Given the description of an element on the screen output the (x, y) to click on. 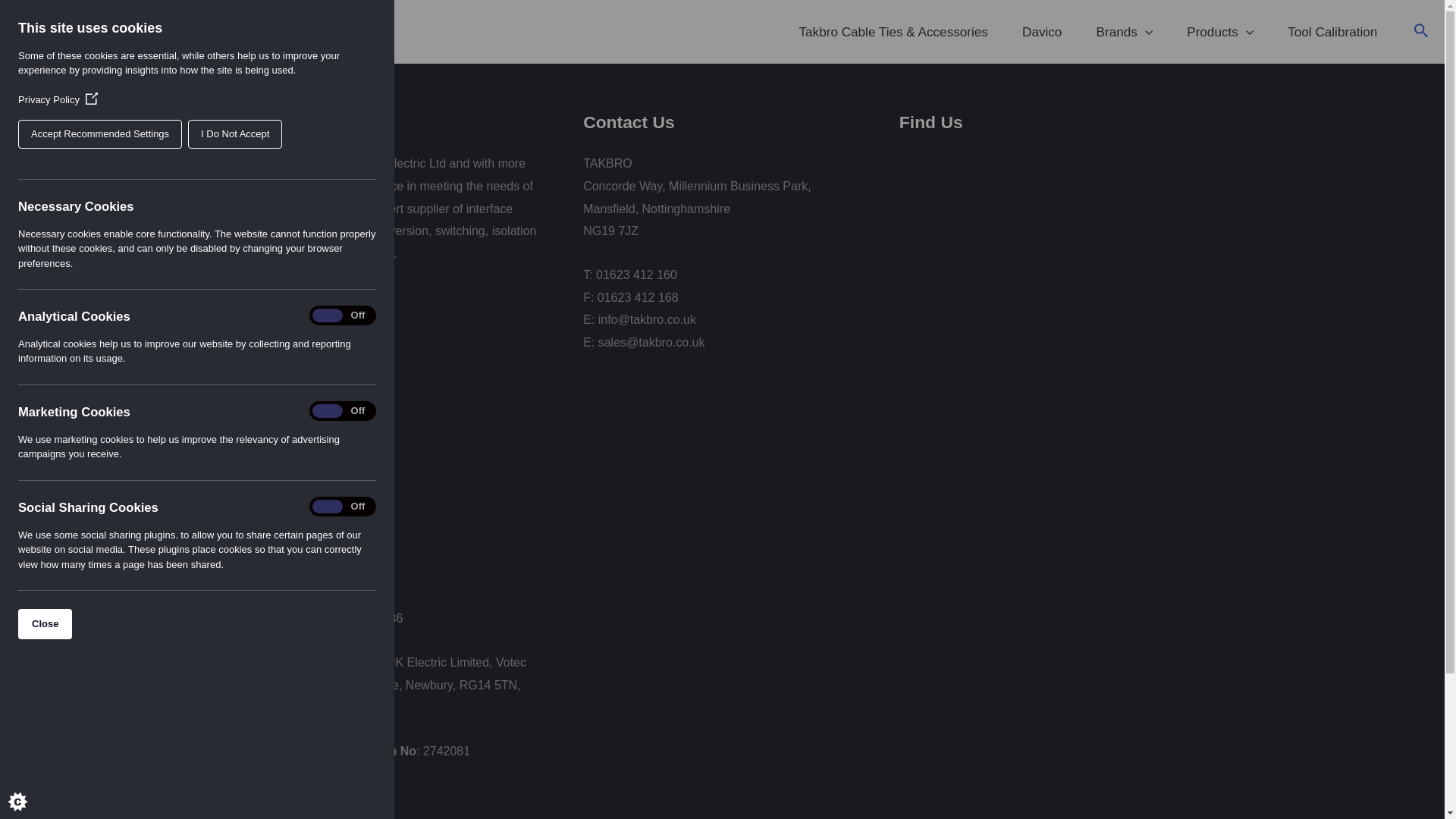
Brands (1128, 31)
Tool Calibration (1336, 31)
Davico (1046, 31)
Products (1224, 31)
I Do Not Accept (42, 133)
